Given the description of an element on the screen output the (x, y) to click on. 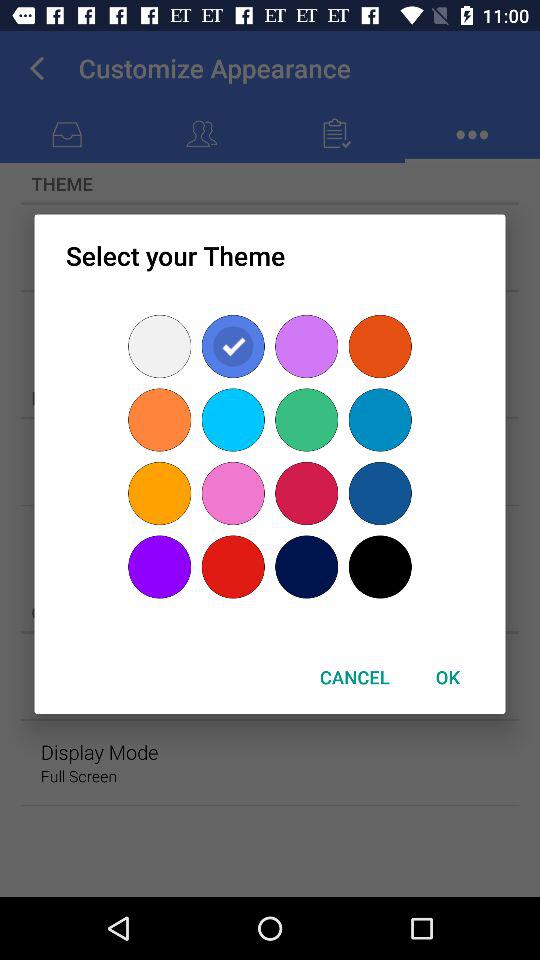
turn off the cancel (354, 676)
